Given the description of an element on the screen output the (x, y) to click on. 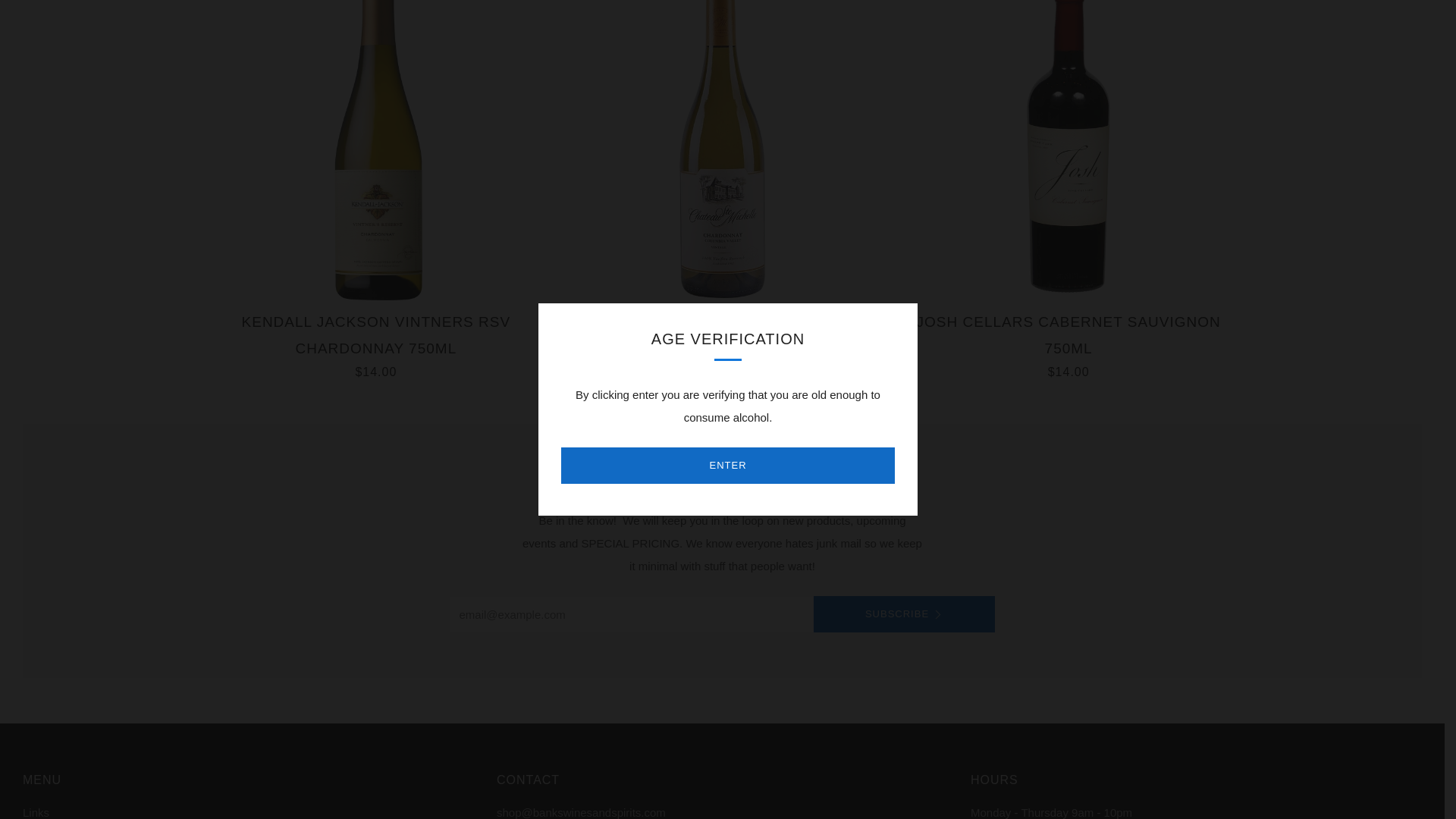
CHATEAU STE MICHELLE CHARDONNAY 750ML (721, 150)
KENDALL JACKSON VINTNERS RSV CHARDONNAY 750ML (376, 150)
JOSH CELLARS CABERNET SAUVIGNON 750ML (1068, 150)
